Given the description of an element on the screen output the (x, y) to click on. 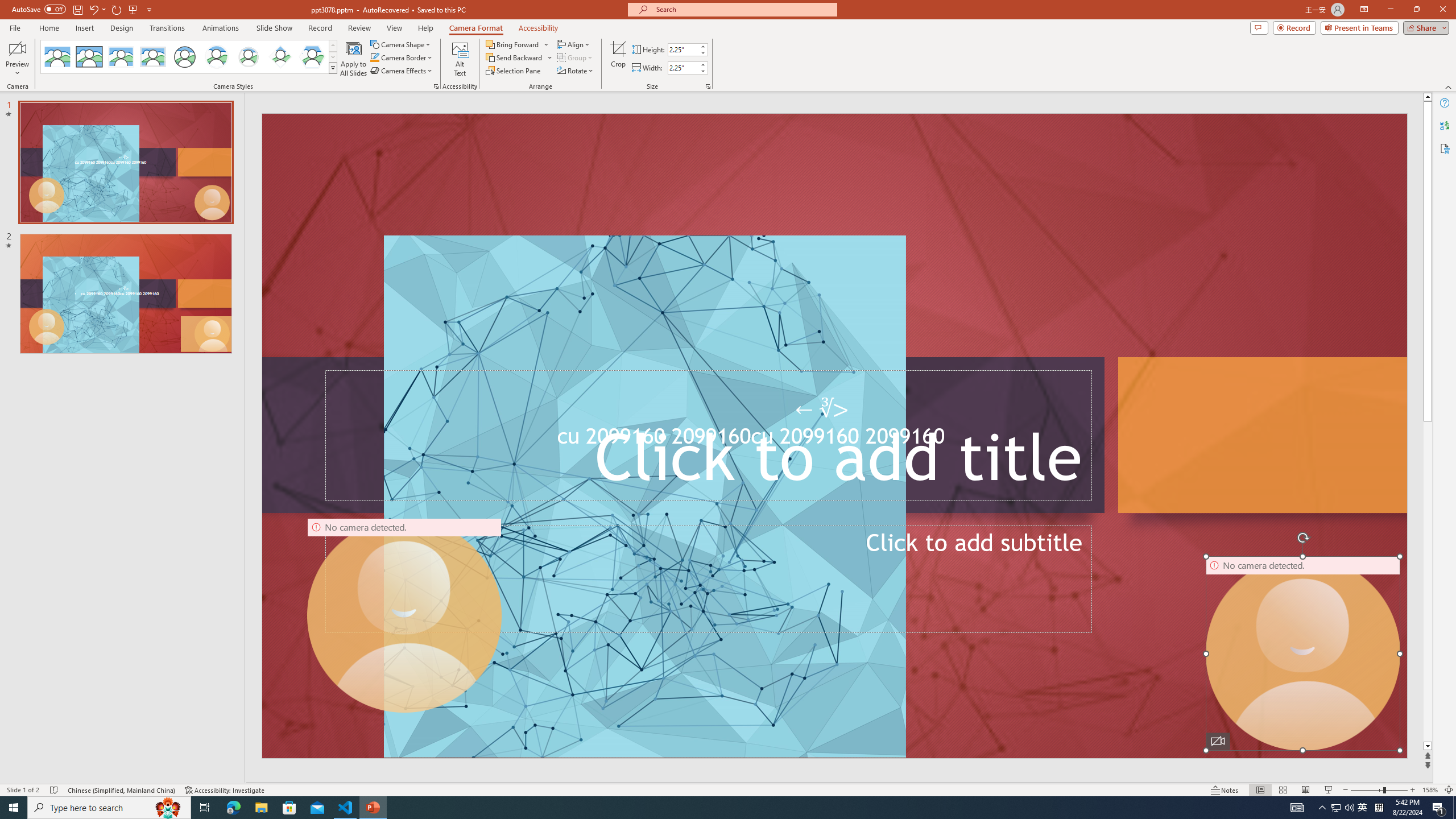
Camera 9, No camera detected. (404, 615)
An abstract genetic concept (834, 435)
Soft Edge Circle (248, 56)
Center Shadow Hexagon (312, 56)
